Given the description of an element on the screen output the (x, y) to click on. 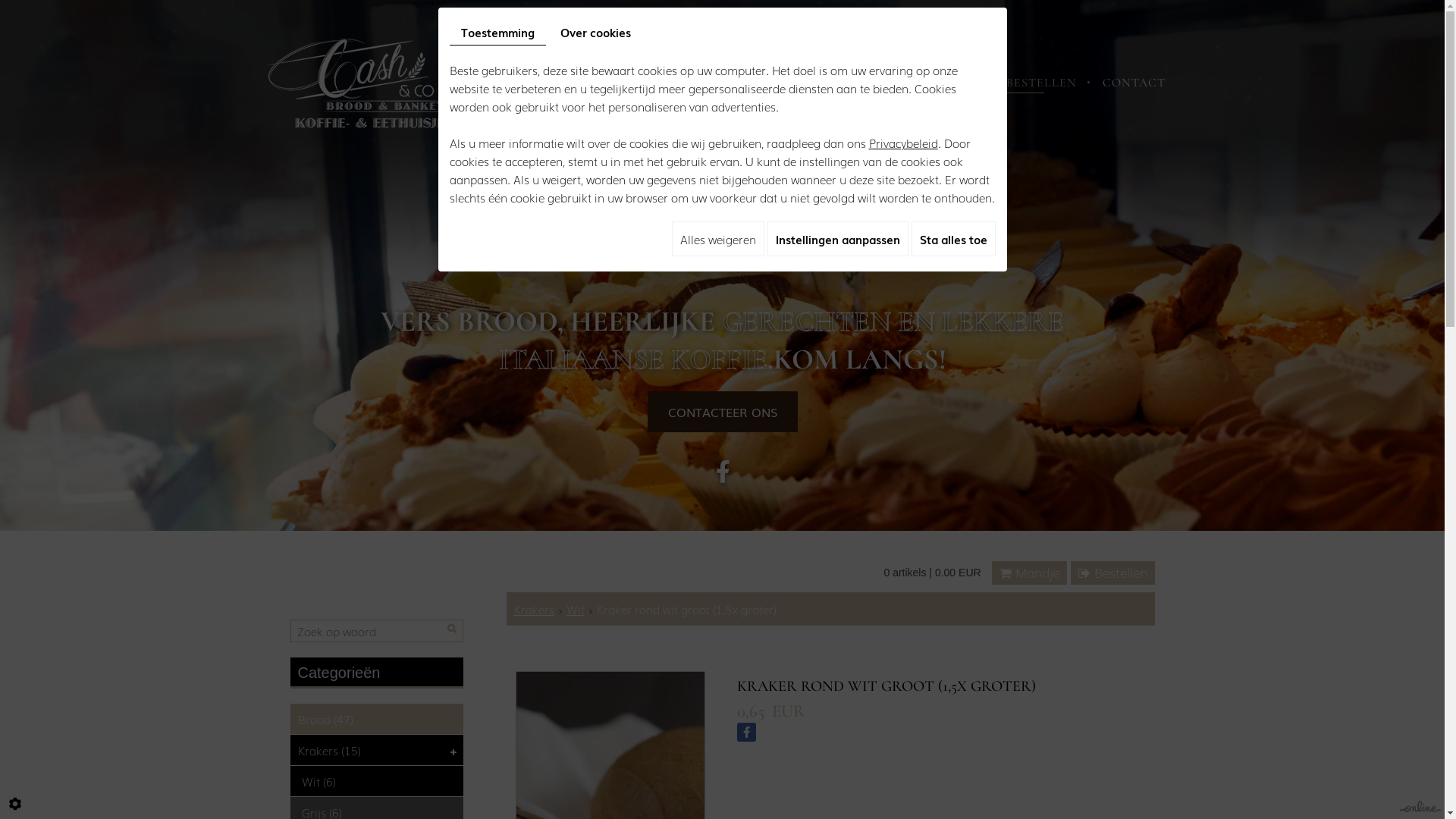
Facebook Element type: hover (746, 731)
HOME Element type: text (533, 82)
Wit Element type: text (574, 608)
Brood (47) Element type: text (375, 718)
Toestemming Element type: text (496, 31)
BAKKERIJ Element type: text (608, 82)
Over cookies Element type: text (595, 31)
Krakers (15) Element type: text (375, 749)
Bestellen Element type: text (1112, 572)
Alles weigeren Element type: text (717, 238)
KOFFIE -EN EETHUIS Element type: text (726, 82)
ONLINE BESTELLEN Element type: text (1014, 82)
Instellingen aanpassen Element type: text (837, 238)
Mandje Element type: text (1028, 572)
  Element type: text (453, 750)
Voorleggen Element type: text (453, 603)
CONTACT Element type: text (1133, 82)
Privacybeleid Element type: text (903, 142)
Wit (6) Element type: text (375, 780)
Cash & Co - Bakker Element type: hover (356, 80)
Krakers Element type: text (534, 608)
CONTACTEER ONS Element type: text (722, 411)
Sta alles toe Element type: text (953, 238)
Cookie-instelling bewerken Element type: text (14, 803)
TRAITEURDIENST Element type: text (871, 82)
